Given the description of an element on the screen output the (x, y) to click on. 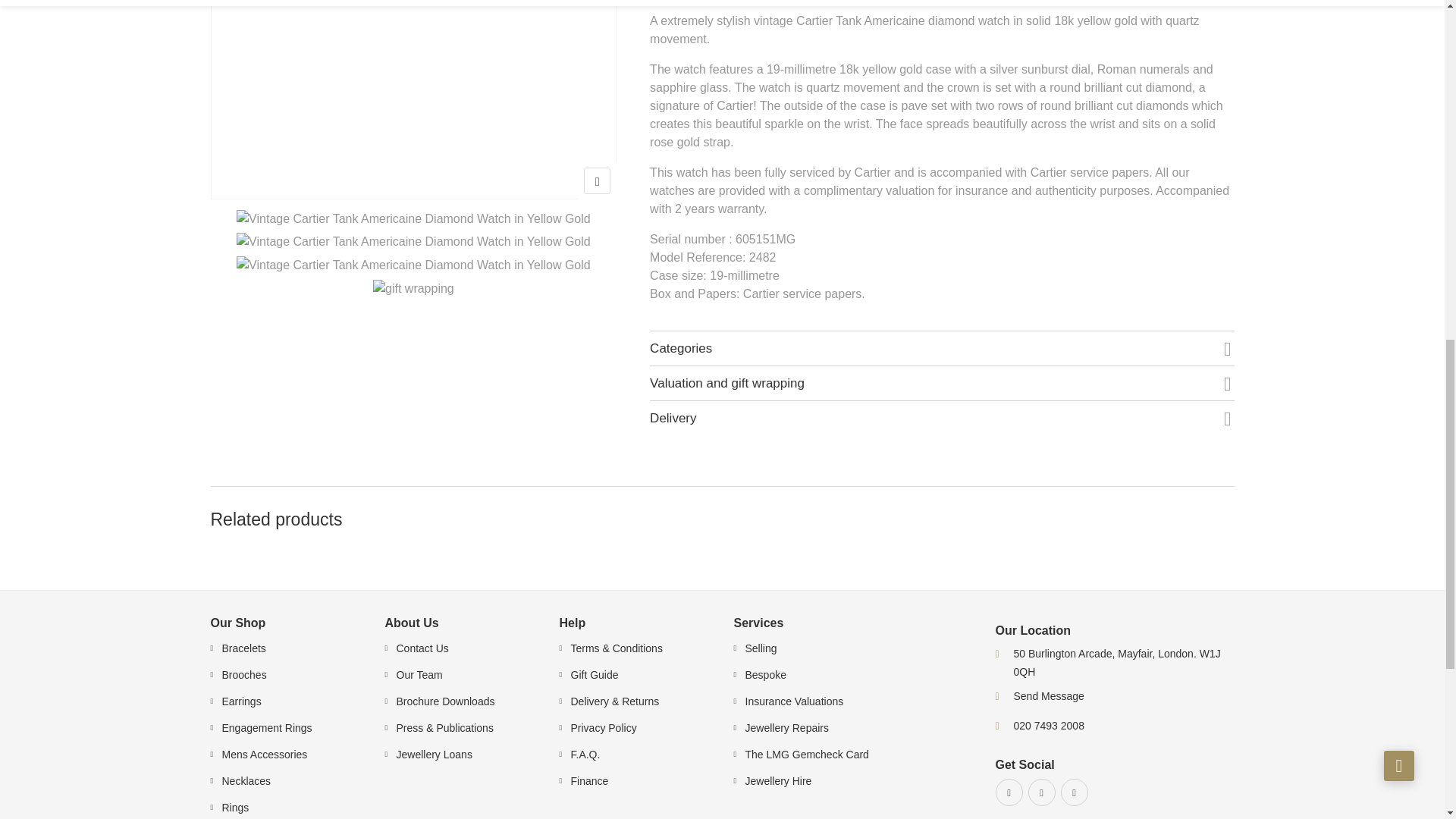
Vintage Cartier Tank Americaine Diamond Watch in Yellow Gold (413, 99)
